Given the description of an element on the screen output the (x, y) to click on. 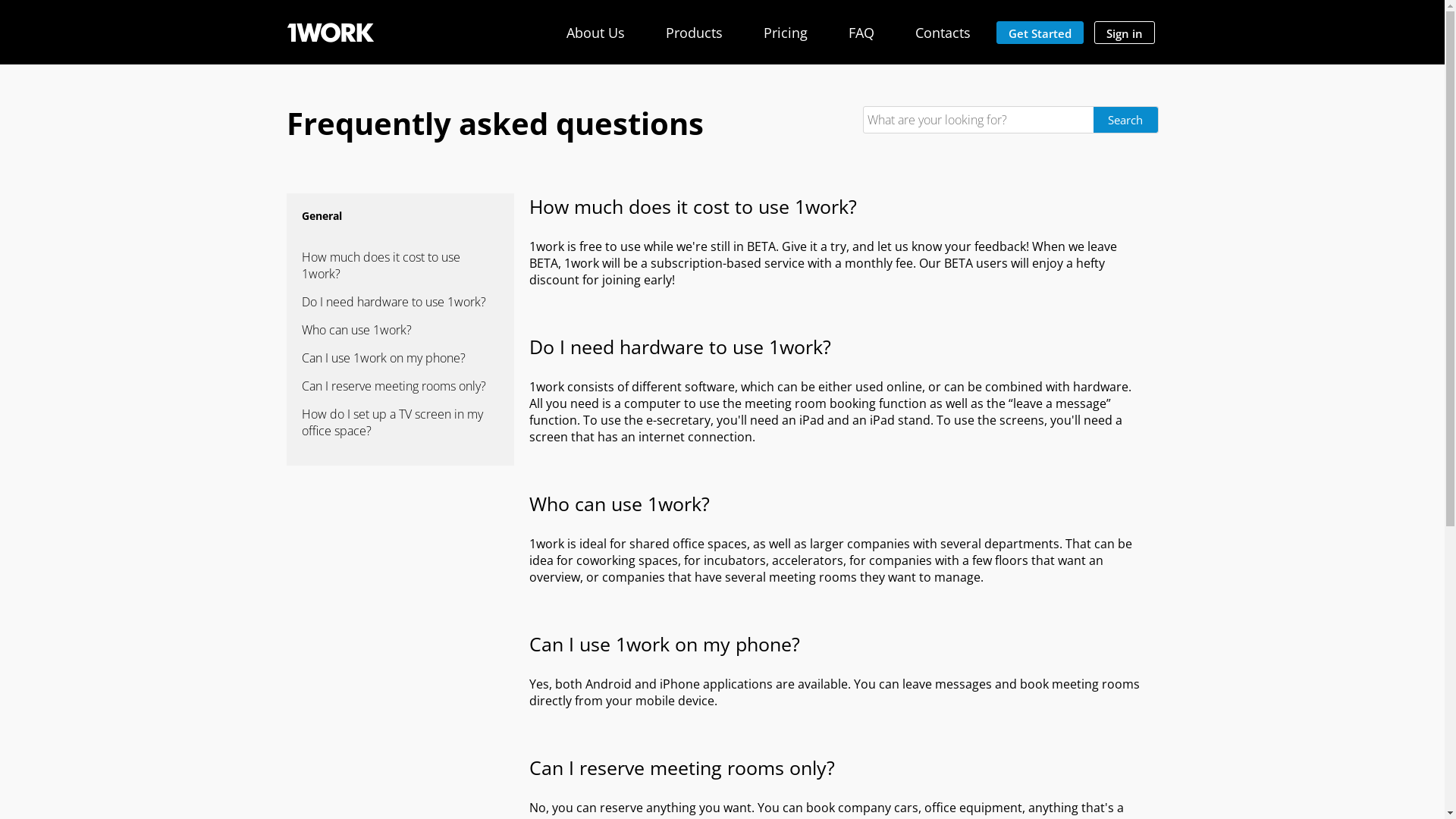
Pricing Element type: text (784, 32)
How much does it cost to use 1work? Element type: text (399, 265)
Who can use 1work? Element type: text (399, 329)
Sign in Element type: text (1123, 32)
Get Started Element type: text (1039, 32)
Search Element type: text (1125, 119)
FAQ Element type: text (860, 32)
About Us Element type: text (594, 32)
Can I use 1work on my phone? Element type: text (399, 357)
Can I reserve meeting rooms only? Element type: text (399, 385)
Do I need hardware to use 1work? Element type: text (399, 301)
How do I set up a TV screen in my office space? Element type: text (399, 422)
Contacts Element type: text (941, 32)
Products Element type: text (693, 32)
